Given the description of an element on the screen output the (x, y) to click on. 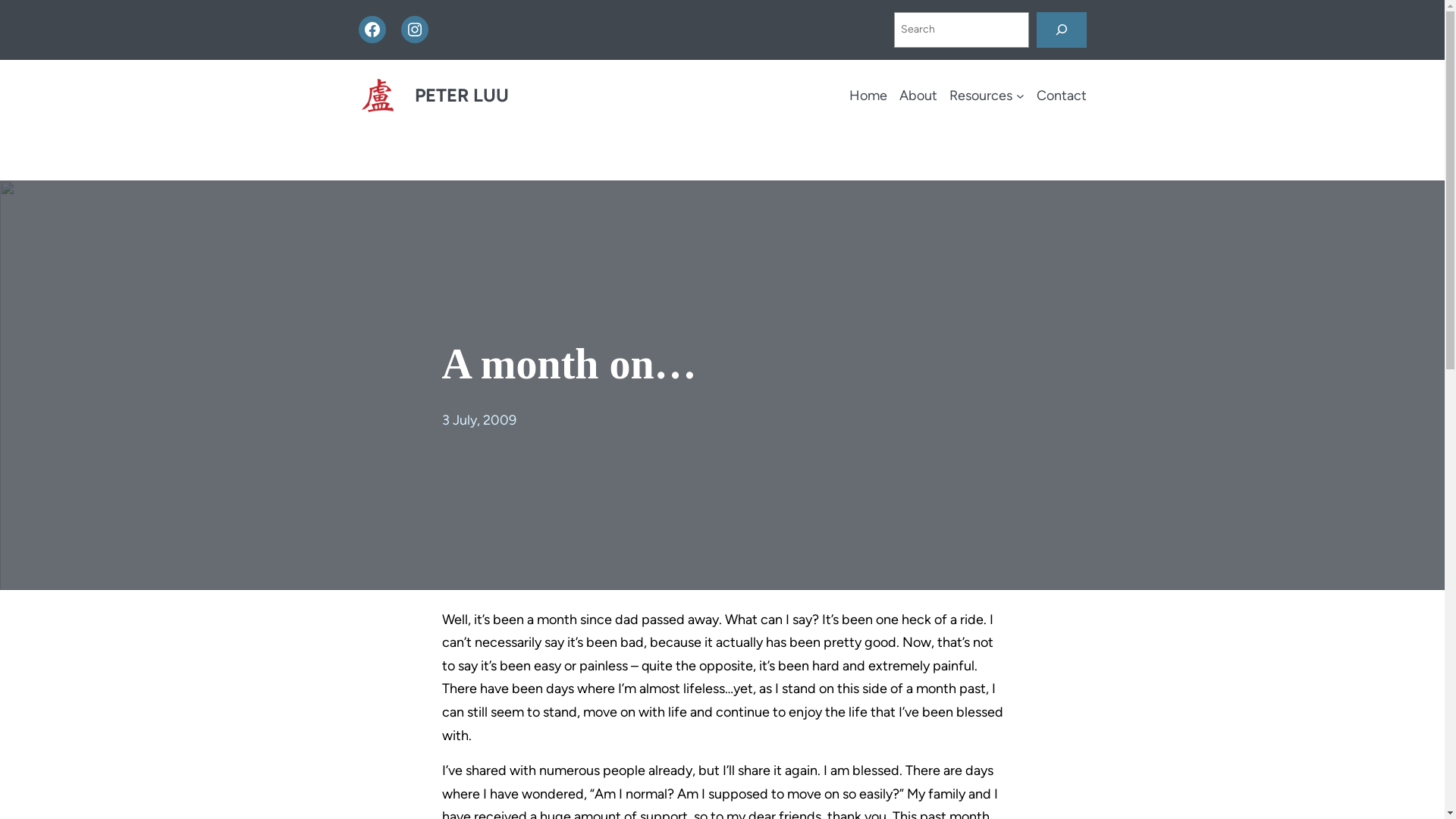
PETER LUU Element type: text (461, 95)
Resources Element type: text (980, 95)
Instagram Element type: text (413, 29)
Facebook Element type: text (371, 29)
About Element type: text (918, 95)
Contact Element type: text (1060, 95)
Home Element type: text (868, 95)
